Given the description of an element on the screen output the (x, y) to click on. 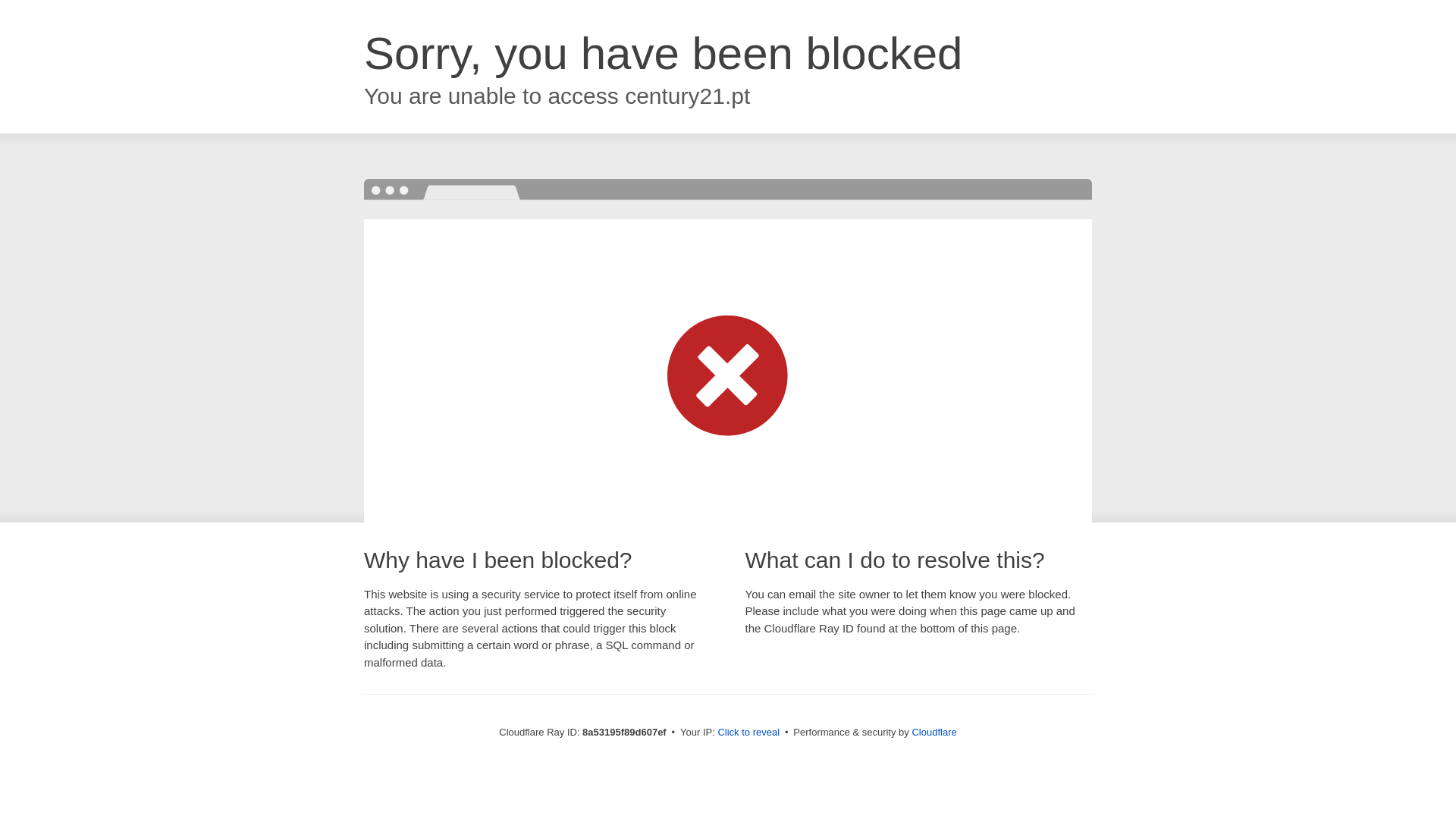
Cloudflare (933, 731)
Click to reveal (747, 732)
